Given the description of an element on the screen output the (x, y) to click on. 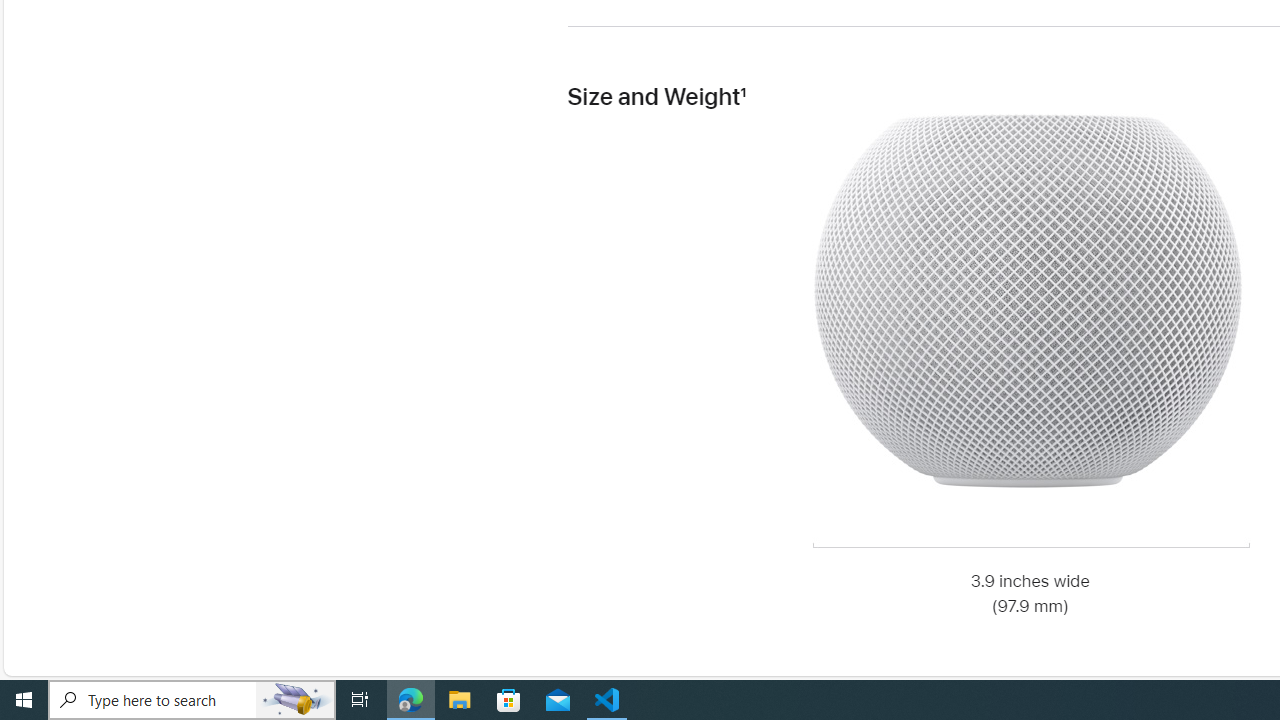
Footnote 1 (743, 97)
